Given the description of an element on the screen output the (x, y) to click on. 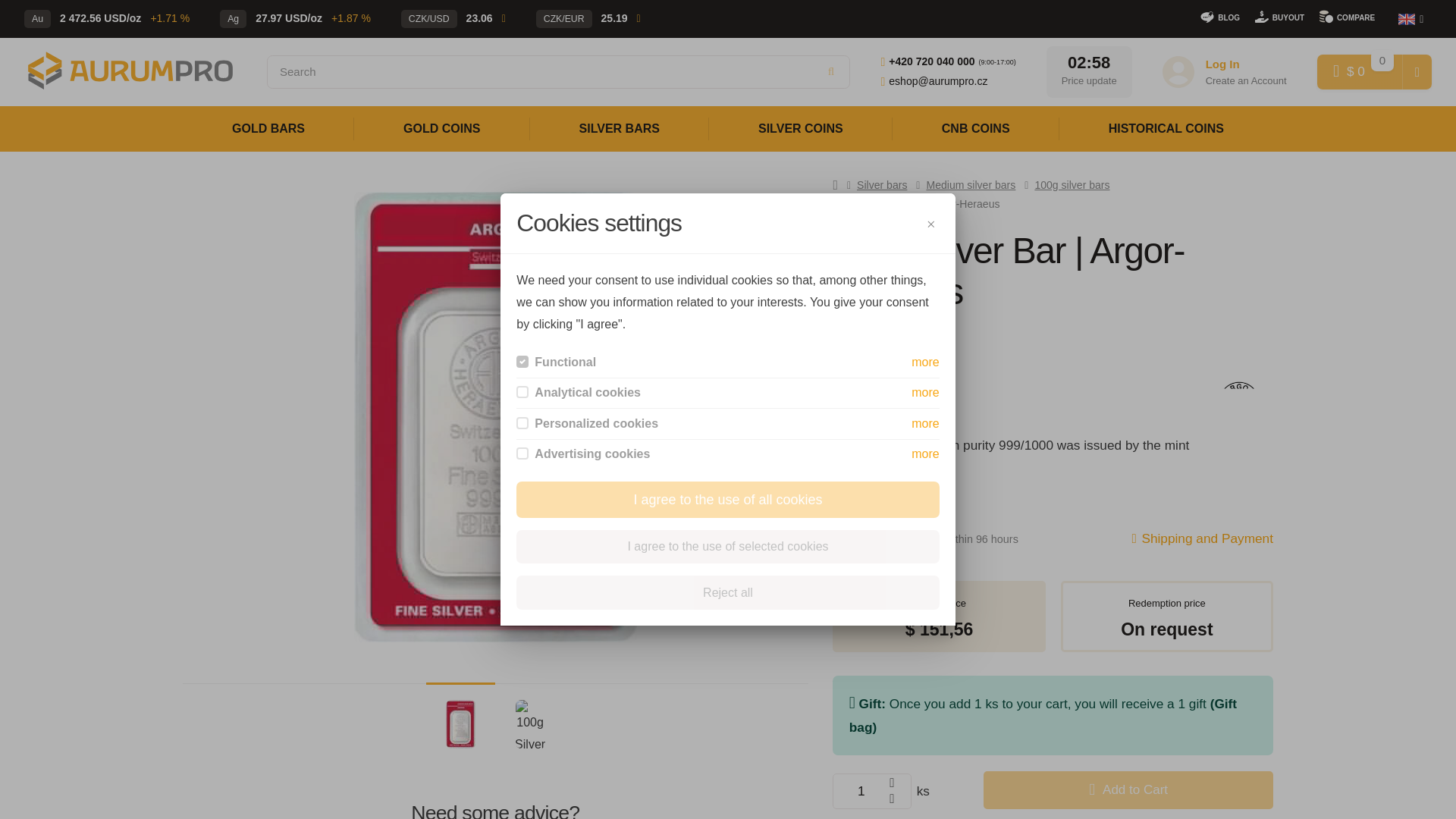
Log In (1222, 64)
Go to Cart (1360, 71)
Blog (1219, 15)
1 (871, 790)
BLOG (1219, 15)
Open menu (1410, 18)
Create an Account (1246, 79)
Home (129, 71)
BUYOUT (1279, 15)
COMPARE (1346, 15)
